Given the description of an element on the screen output the (x, y) to click on. 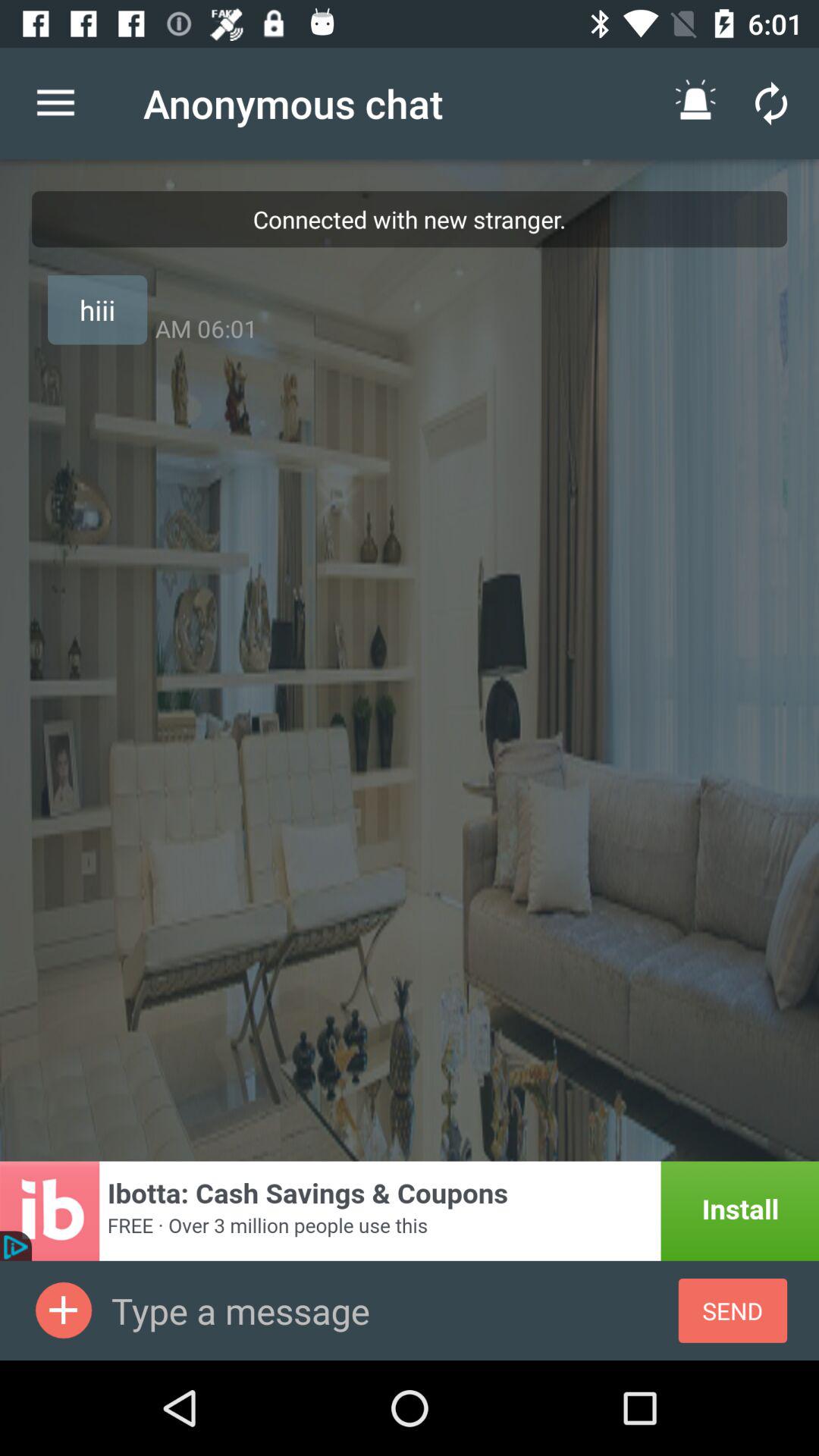
add a message (63, 1310)
